Given the description of an element on the screen output the (x, y) to click on. 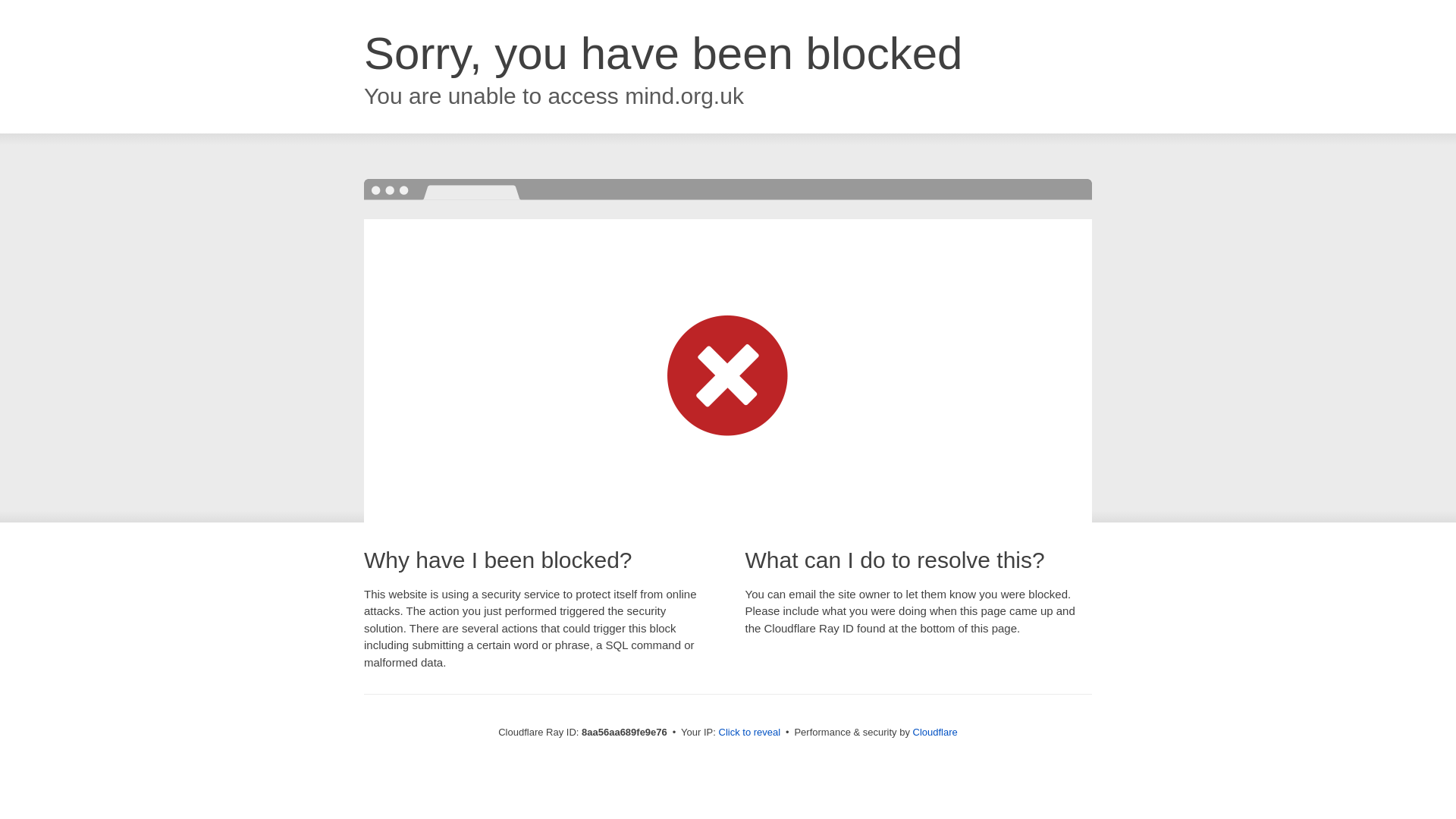
Cloudflare (935, 731)
Click to reveal (749, 732)
